Given the description of an element on the screen output the (x, y) to click on. 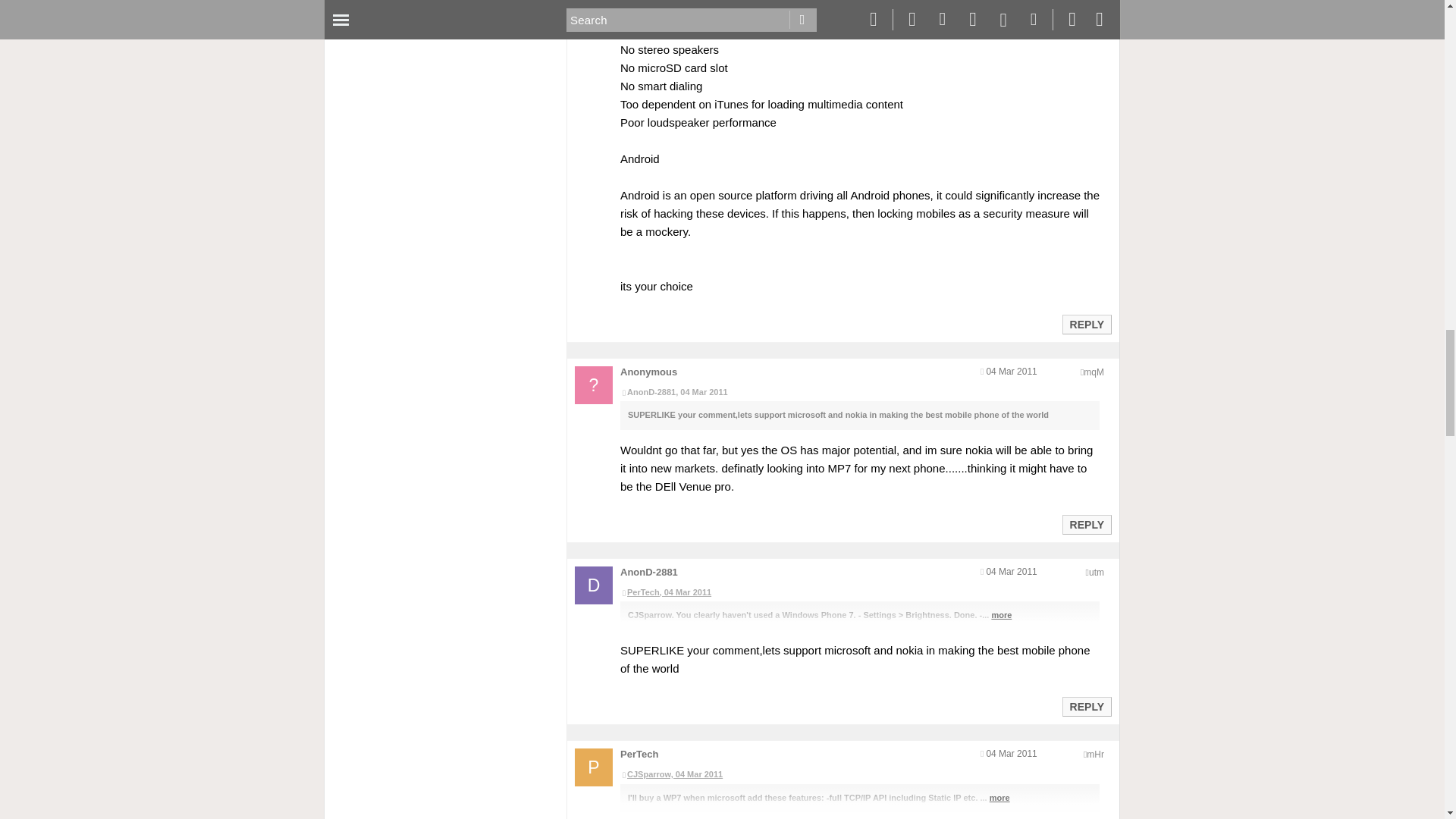
Reply to this post (1086, 524)
Reply to this post (1086, 324)
Encoded anonymized location (1093, 371)
